Given the description of an element on the screen output the (x, y) to click on. 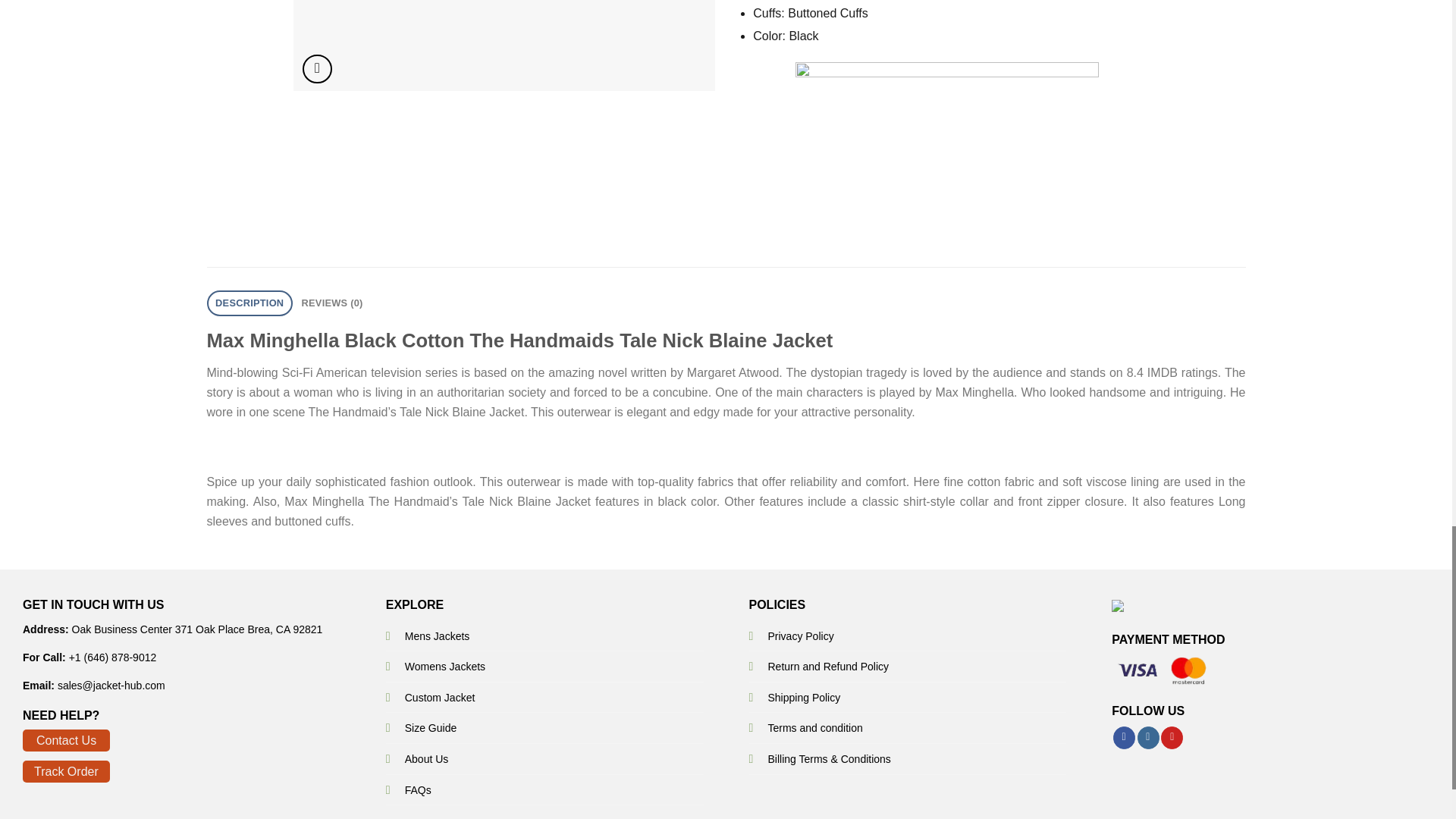
The-Handmaids-Tale-Nick-Blaine-Jacket (504, 45)
The-Handmaids-Tale-Max-Minghella-Jacket (924, 45)
Zoom (316, 69)
